Given the description of an element on the screen output the (x, y) to click on. 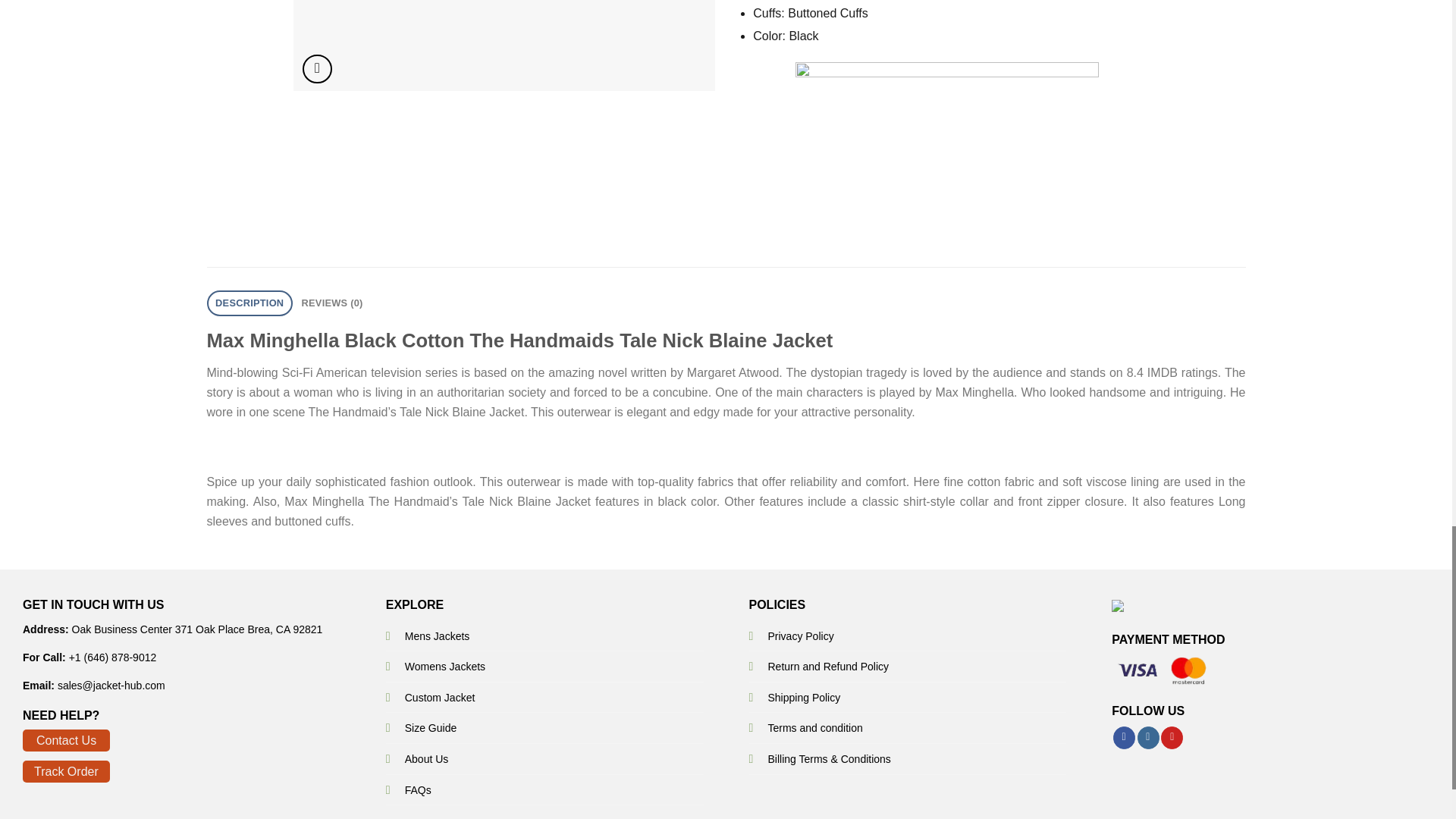
The-Handmaids-Tale-Nick-Blaine-Jacket (504, 45)
The-Handmaids-Tale-Max-Minghella-Jacket (924, 45)
Zoom (316, 69)
